Given the description of an element on the screen output the (x, y) to click on. 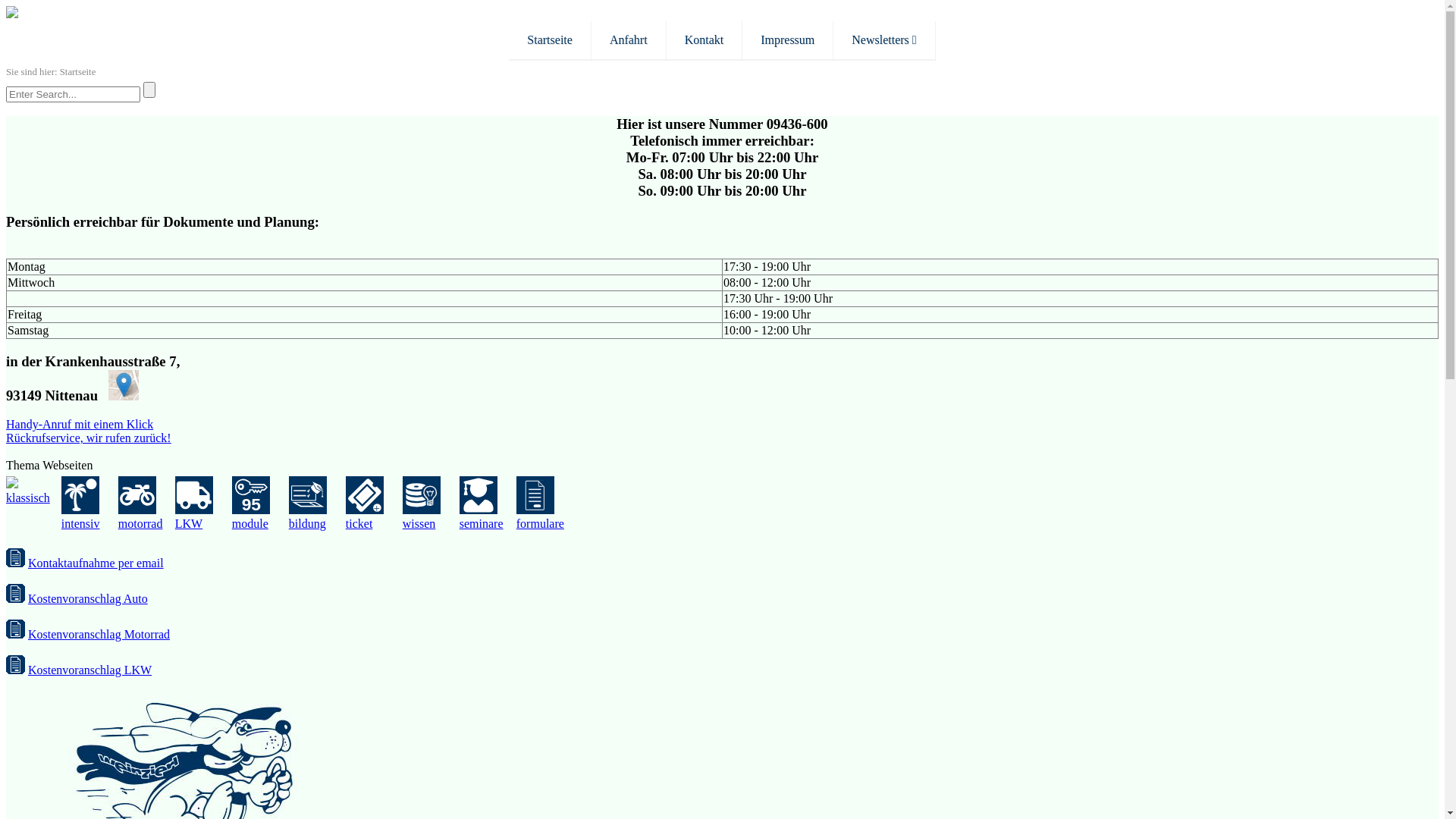
intensiv Element type: text (89, 503)
klassisch Element type: text (33, 490)
Kostenvoranschlag Auto Element type: text (87, 598)
motorrad Element type: text (146, 503)
ticket Element type: text (373, 503)
Startseite Element type: text (549, 40)
Kostenvoranschlag LKW Element type: text (89, 669)
Kontakt Element type: text (704, 40)
Anfahrt Element type: text (628, 40)
Impressum Element type: text (787, 40)
Handy-Anruf mit einem Klick Element type: text (79, 423)
bildung Element type: text (316, 503)
LKW Element type: text (203, 503)
Kostenvoranschlag Motorrad Element type: text (98, 633)
wissen Element type: text (430, 503)
seminare Element type: text (487, 503)
module Element type: text (260, 503)
formulare Element type: text (545, 503)
Kontaktaufnahme per email Element type: text (95, 562)
